Given the description of an element on the screen output the (x, y) to click on. 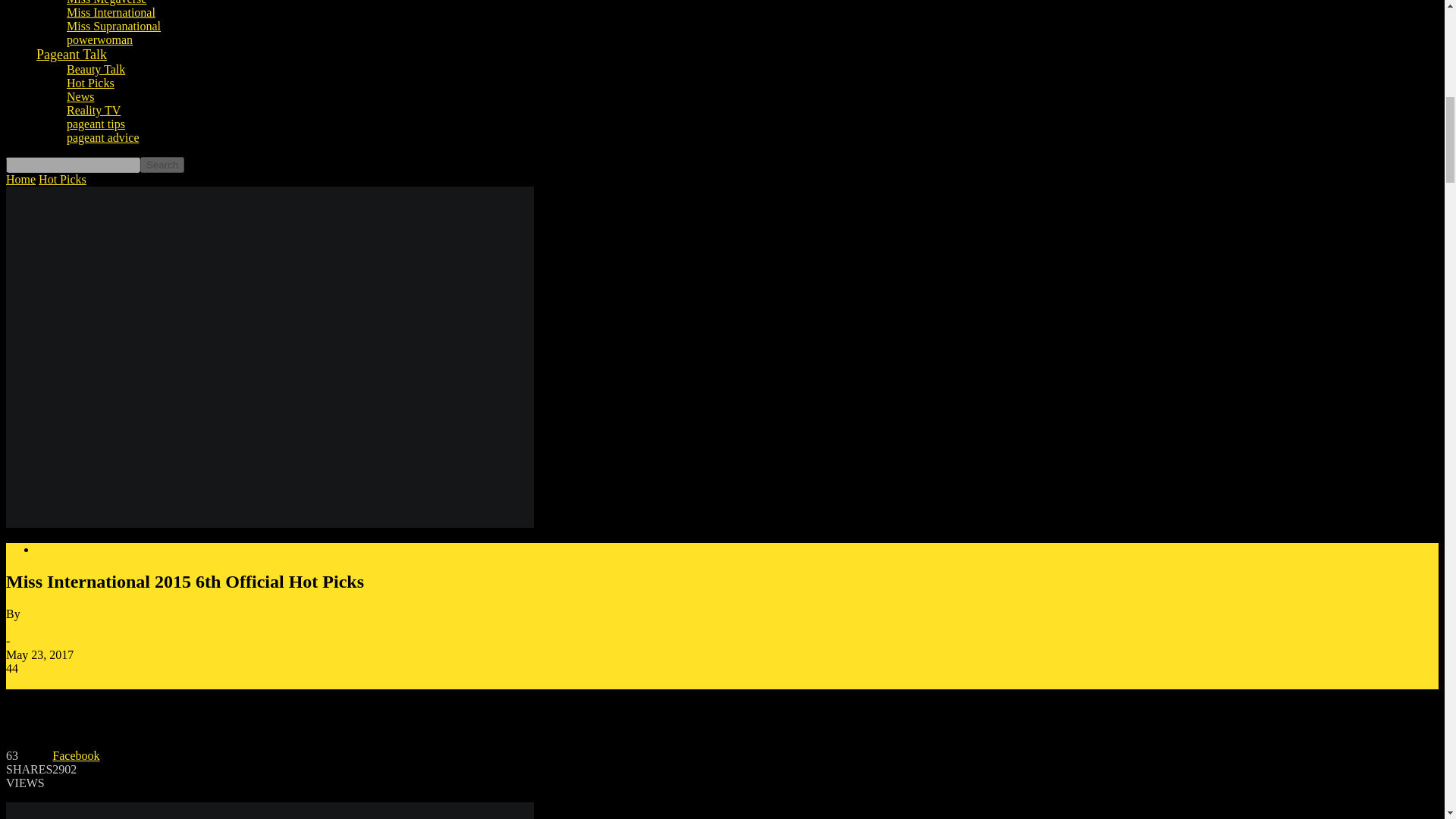
Search (161, 164)
View all posts in Hot Picks (62, 178)
